Given the description of an element on the screen output the (x, y) to click on. 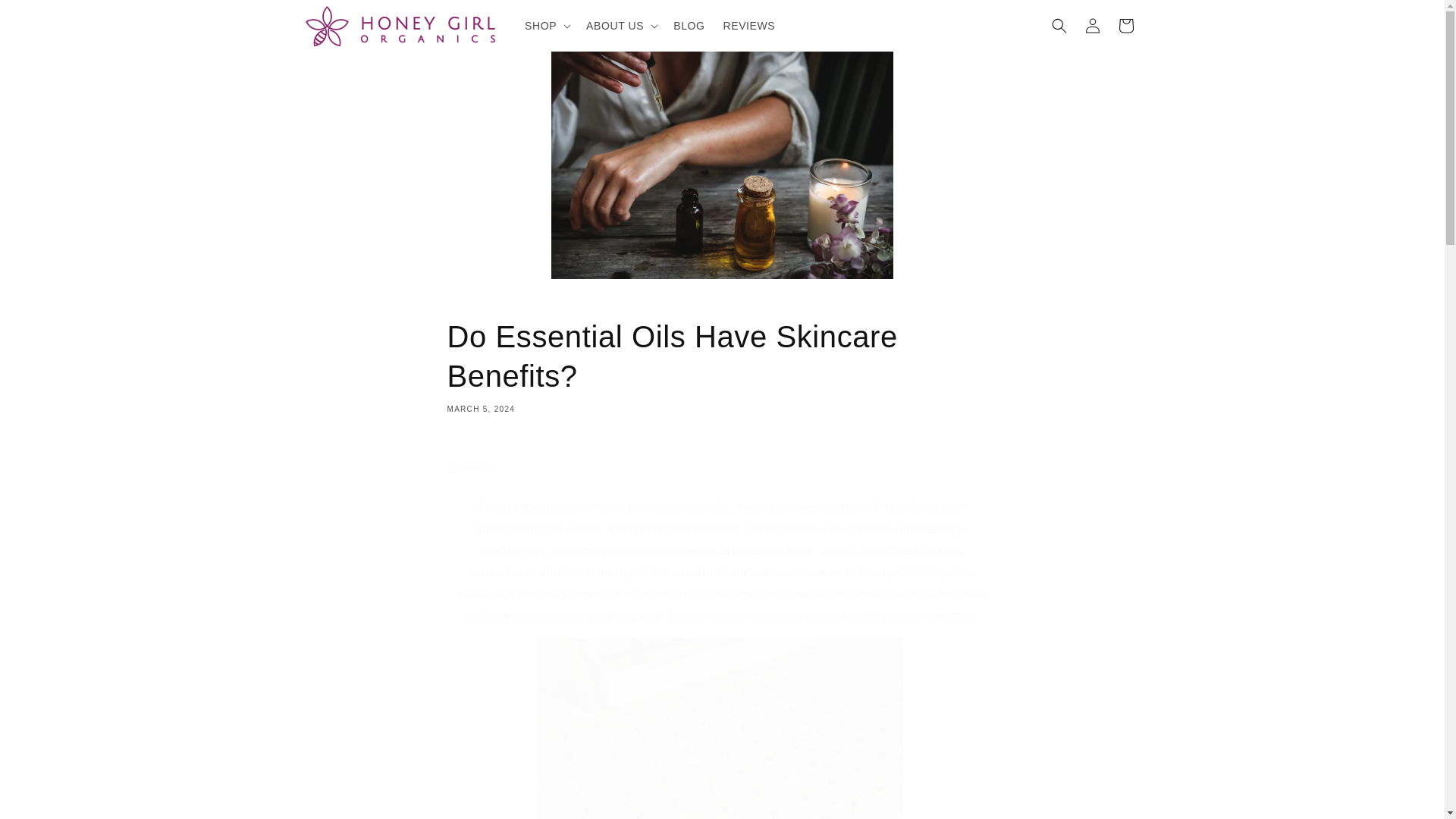
Share (721, 365)
Skip to content (721, 468)
